Given the description of an element on the screen output the (x, y) to click on. 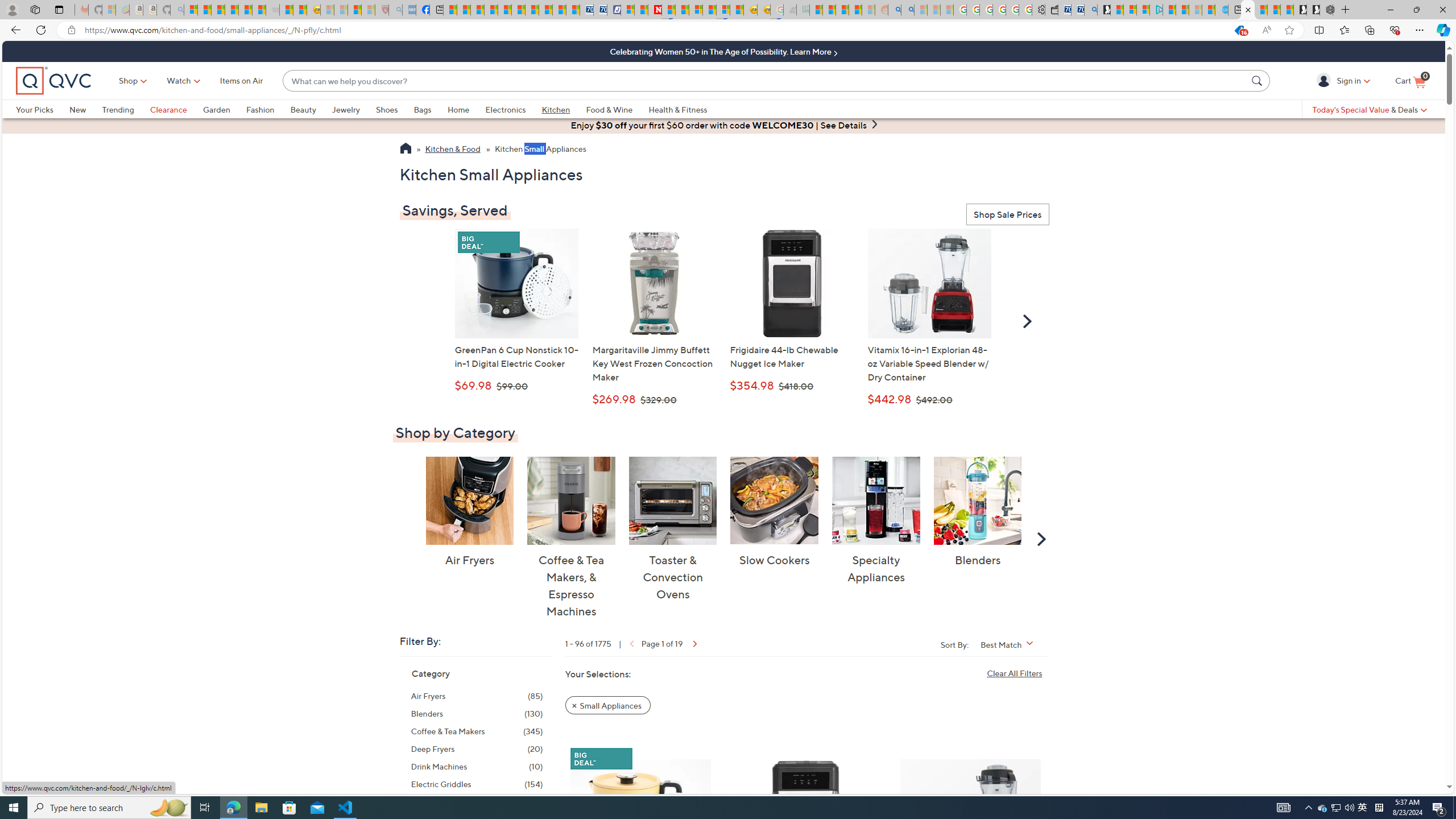
Air Fryers Air Fryers (469, 512)
Combat Siege - Sleeping (271, 9)
Electronics (512, 109)
Student Loan Update: Forgiveness Program Ends This Month (855, 9)
Electric Griddles, 154 items (476, 784)
Food & Wine (617, 109)
